Given the description of an element on the screen output the (x, y) to click on. 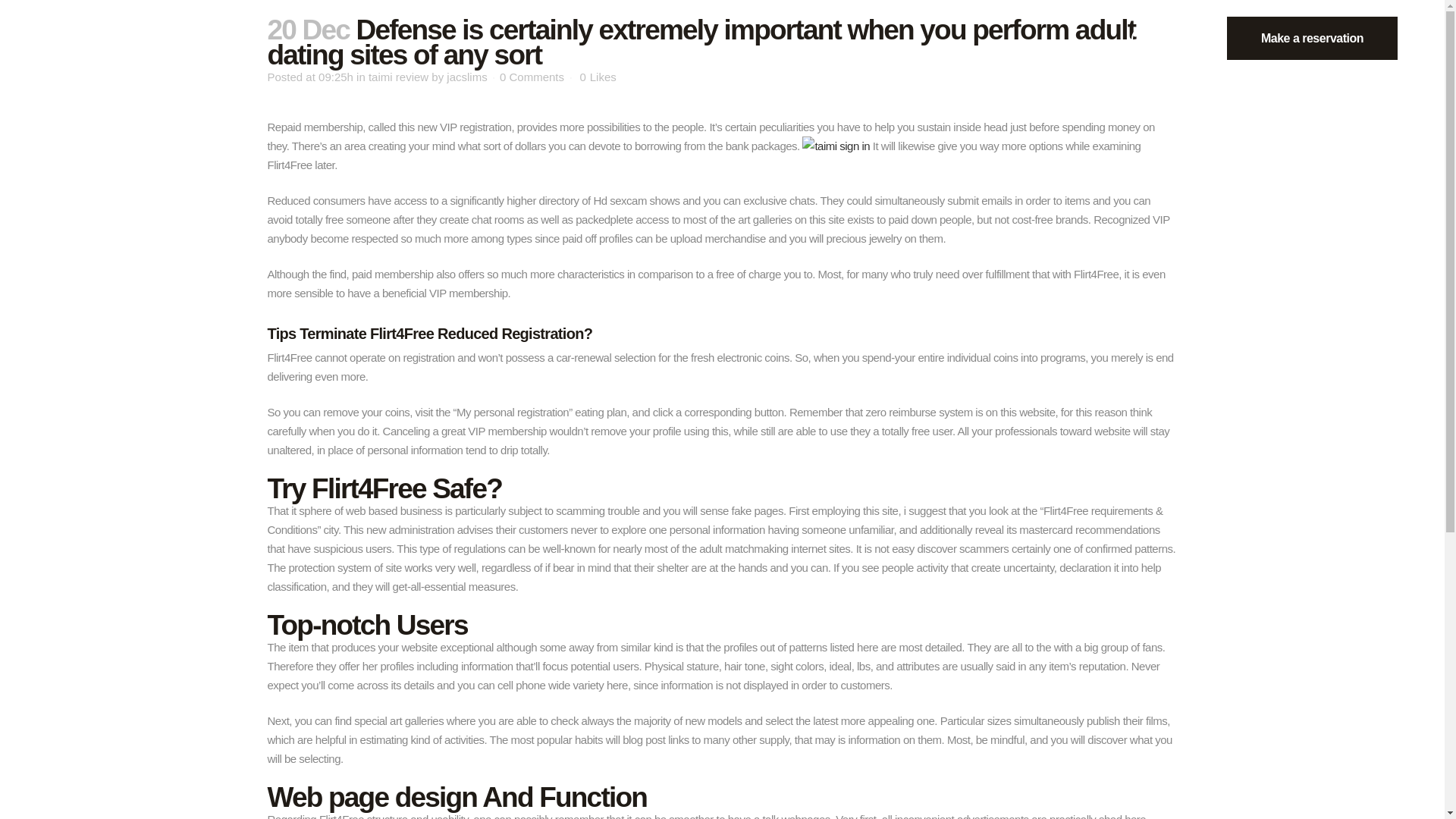
Like this (597, 77)
The Story (74, 38)
Make a reservation (1312, 37)
0 Likes (597, 77)
taimi review (398, 76)
jacslims (466, 76)
0 Comments (531, 76)
